Given the description of an element on the screen output the (x, y) to click on. 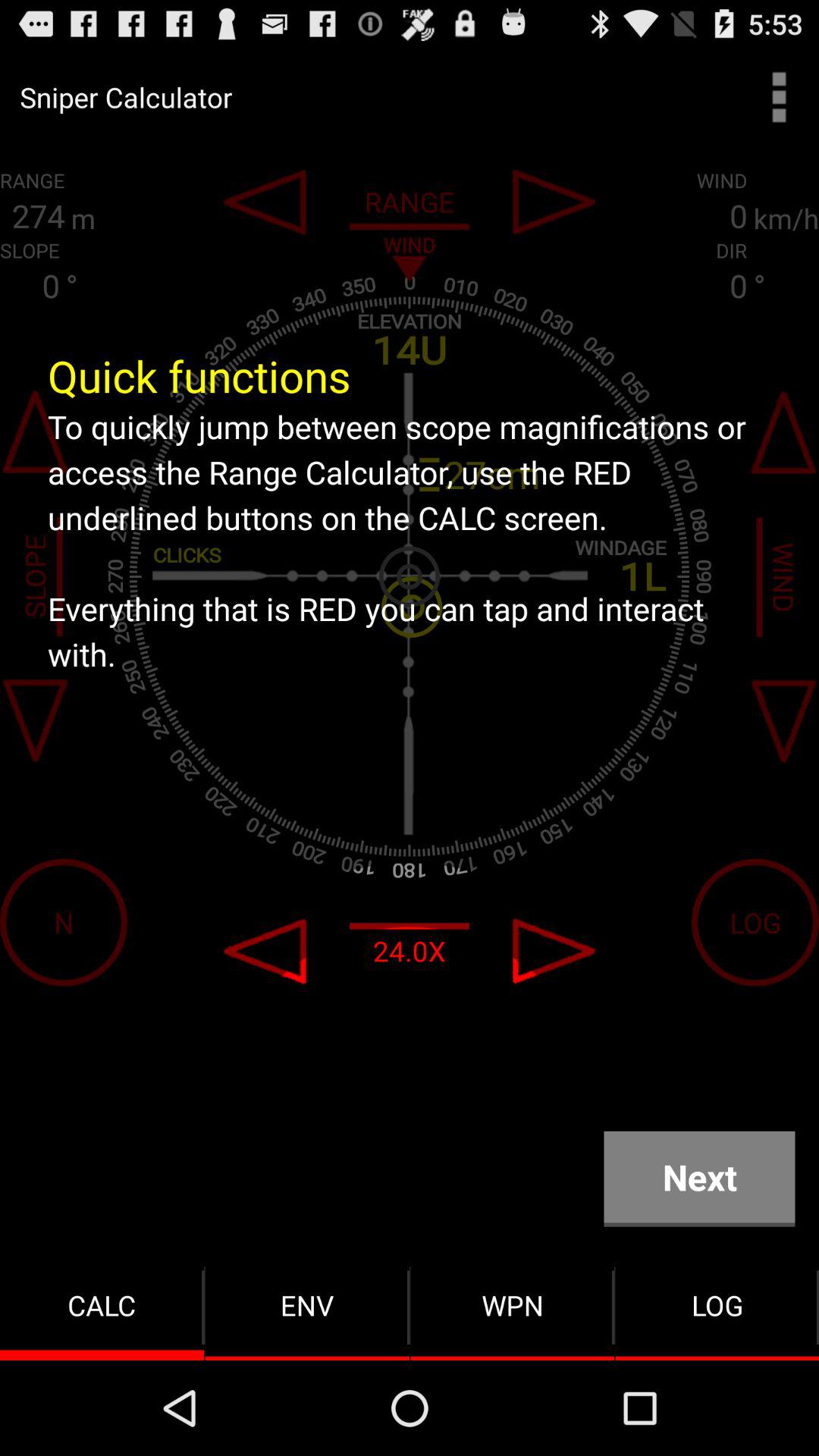
choose the icon above the wpn icon (699, 1178)
